Given the description of an element on the screen output the (x, y) to click on. 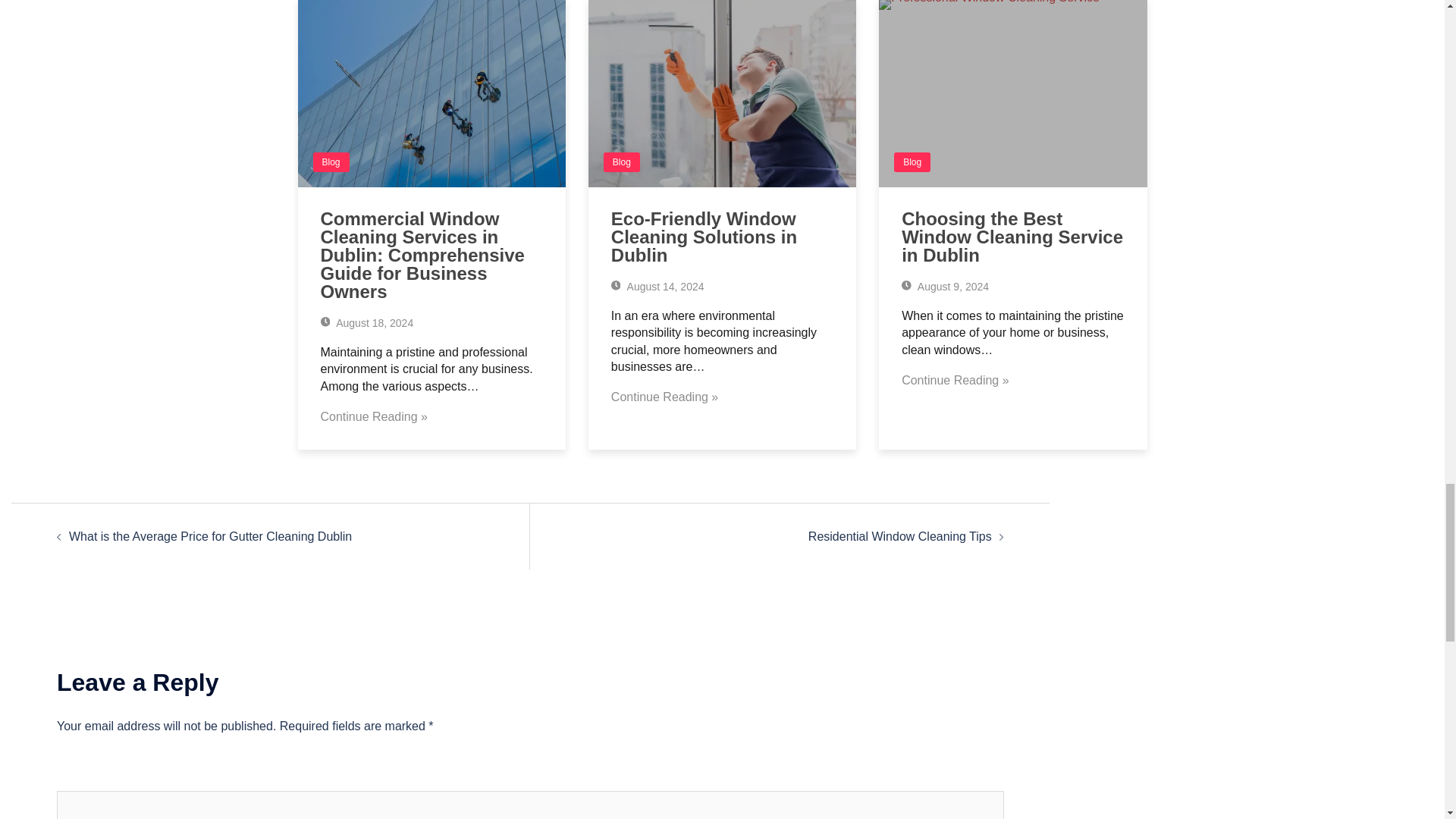
Eco-Friendly Window Cleaning Solutions in Dublin (703, 236)
Blog (331, 161)
August 14, 2024 (657, 286)
Blog (622, 161)
August 18, 2024 (366, 322)
